Given the description of an element on the screen output the (x, y) to click on. 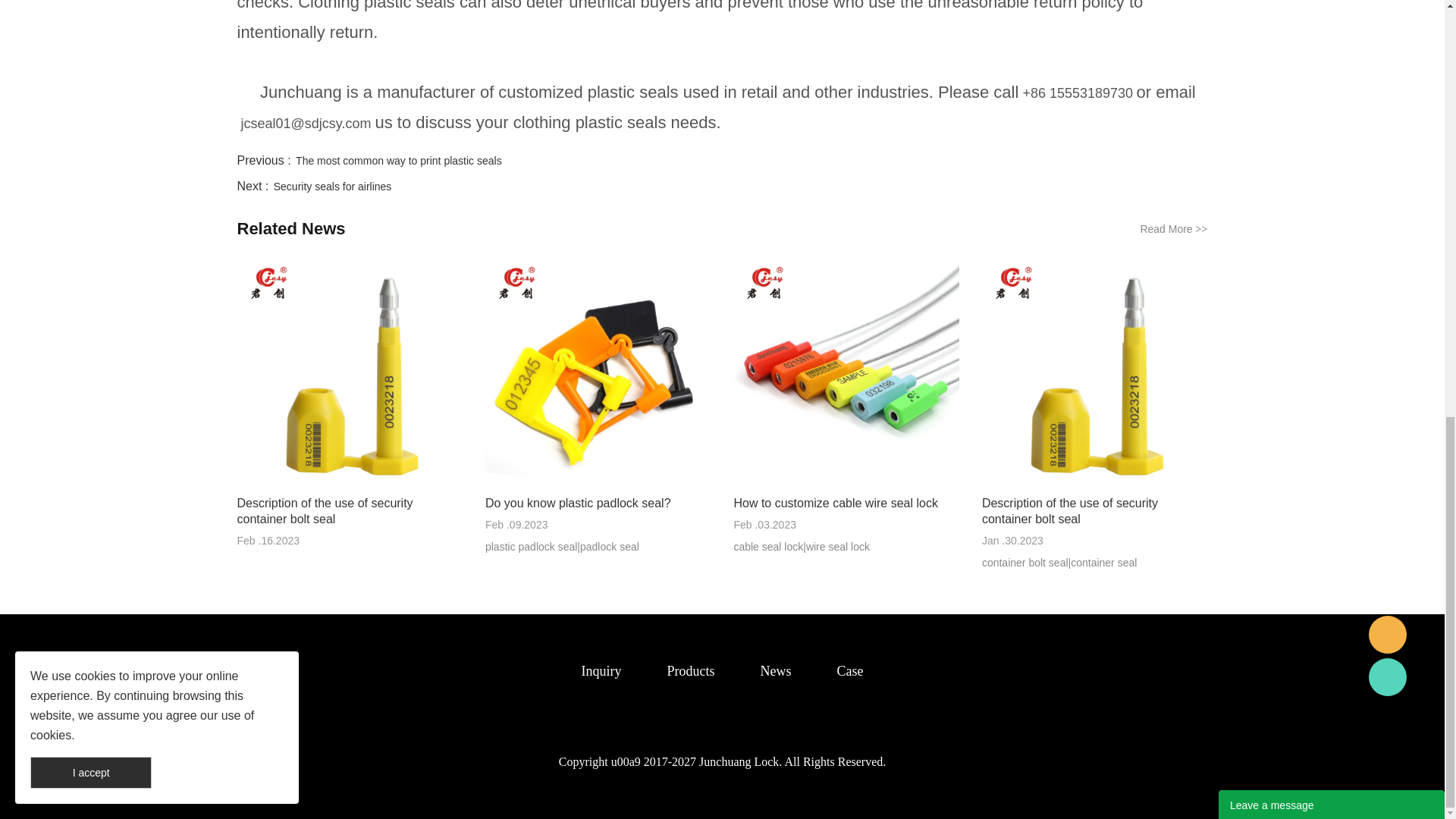
Send (1331, 146)
